Given the description of an element on the screen output the (x, y) to click on. 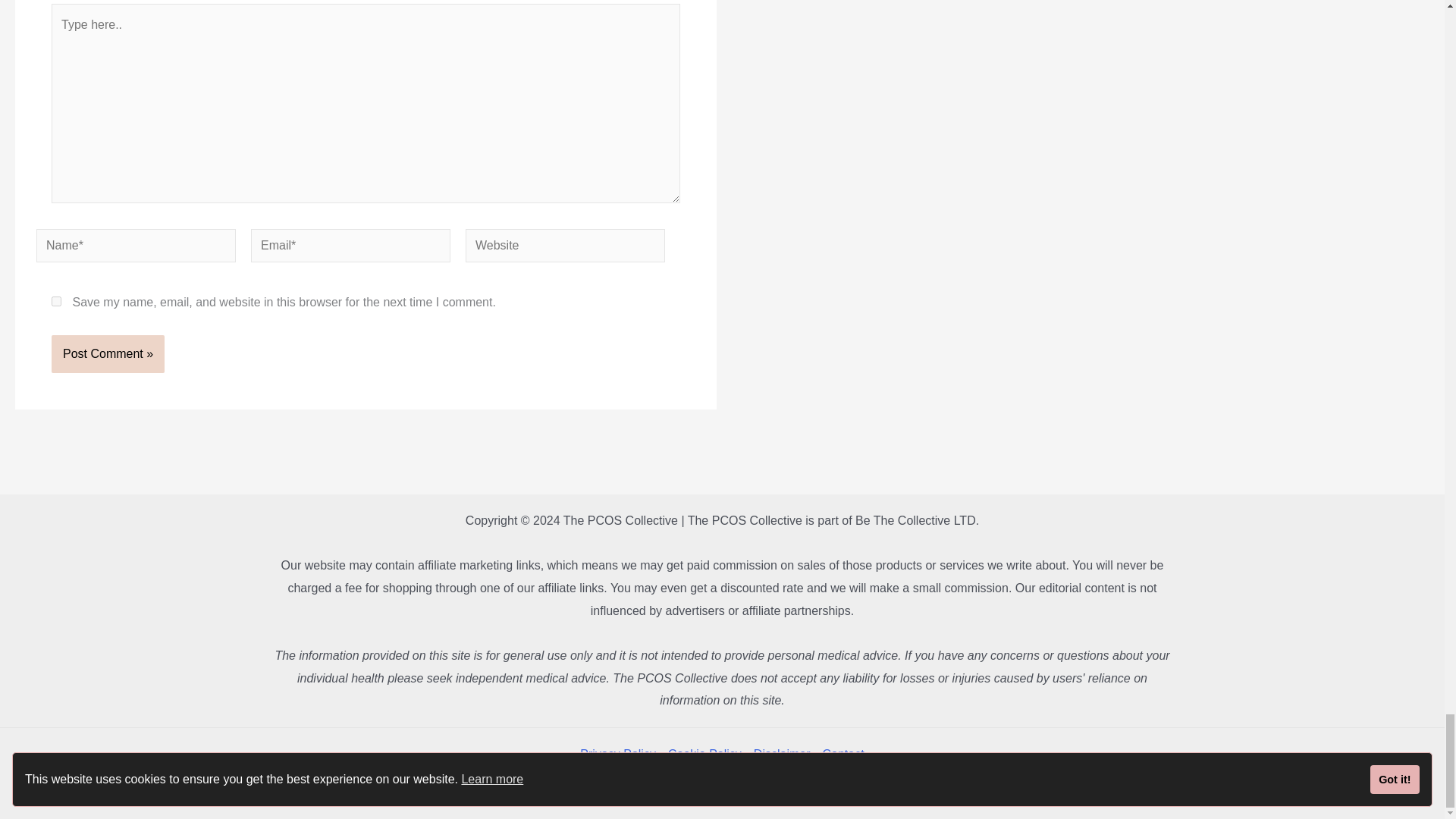
yes (55, 301)
